Given the description of an element on the screen output the (x, y) to click on. 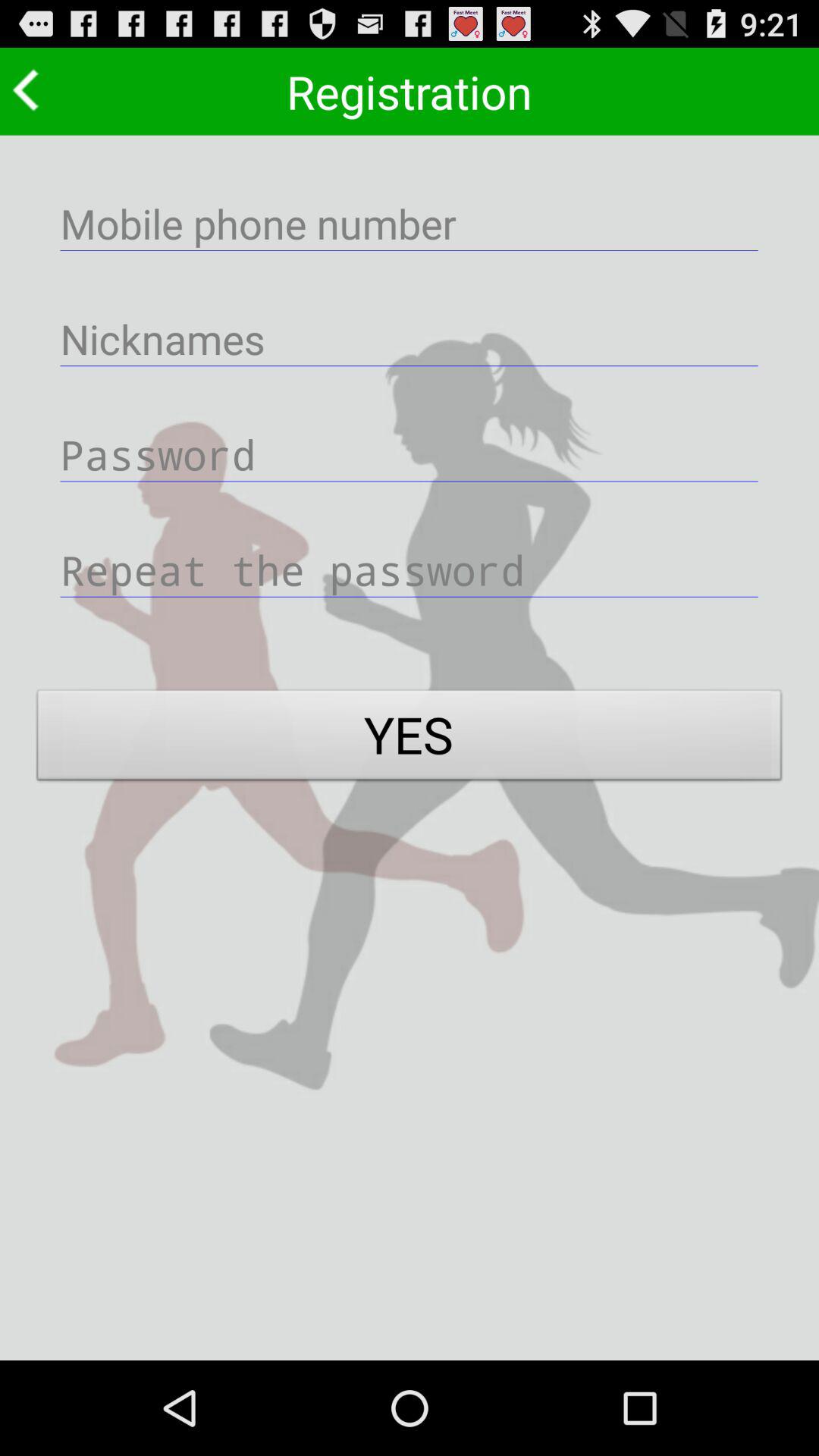
enter phone number (409, 222)
